Given the description of an element on the screen output the (x, y) to click on. 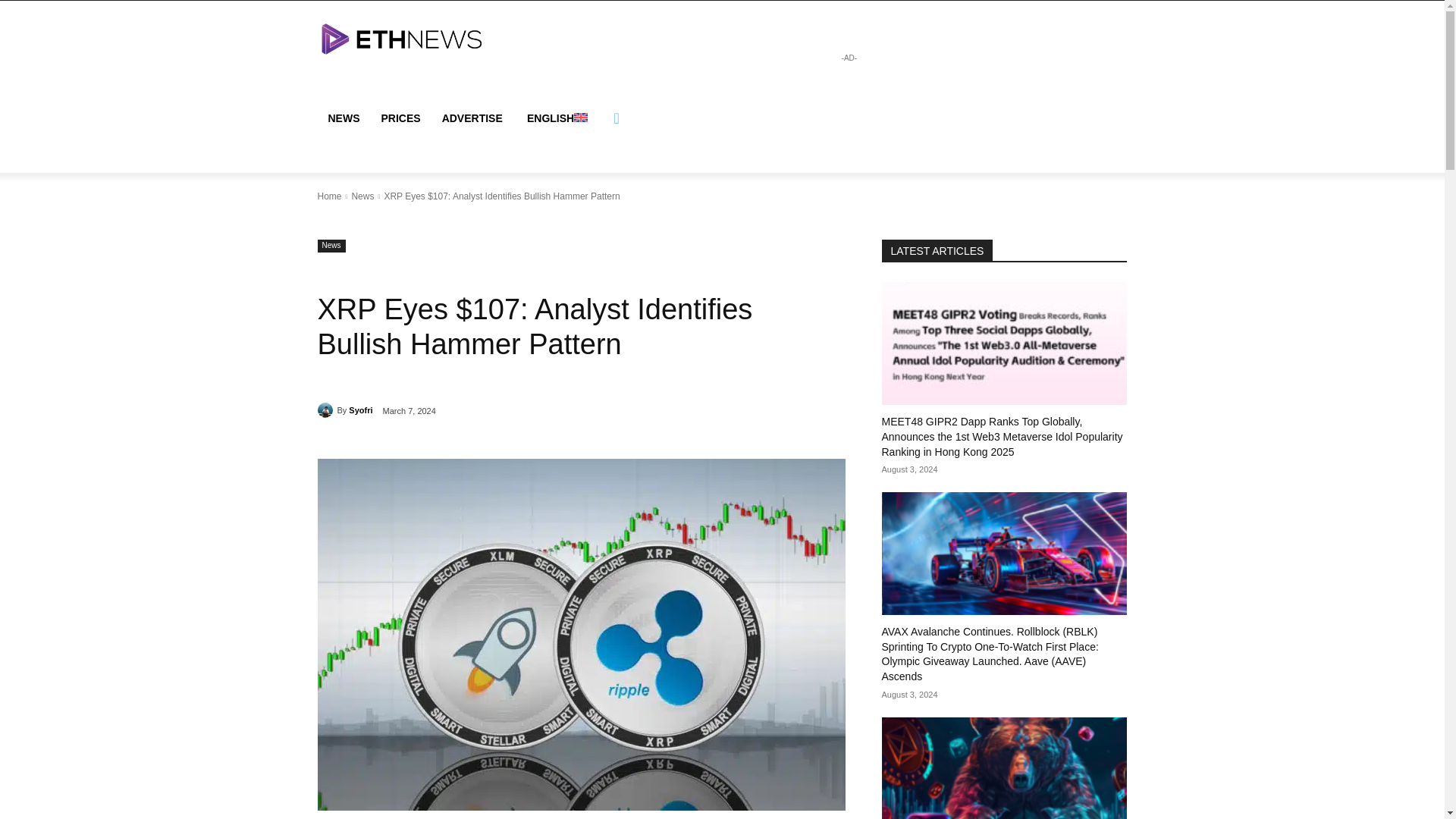
Syofri (326, 409)
ADVERTISE (471, 117)
NEWS (343, 117)
English (555, 117)
News (362, 195)
View all posts in News (362, 195)
ENGLISH (555, 117)
Syofri (360, 409)
Home (328, 195)
PRICES (399, 117)
News (331, 245)
